Given the description of an element on the screen output the (x, y) to click on. 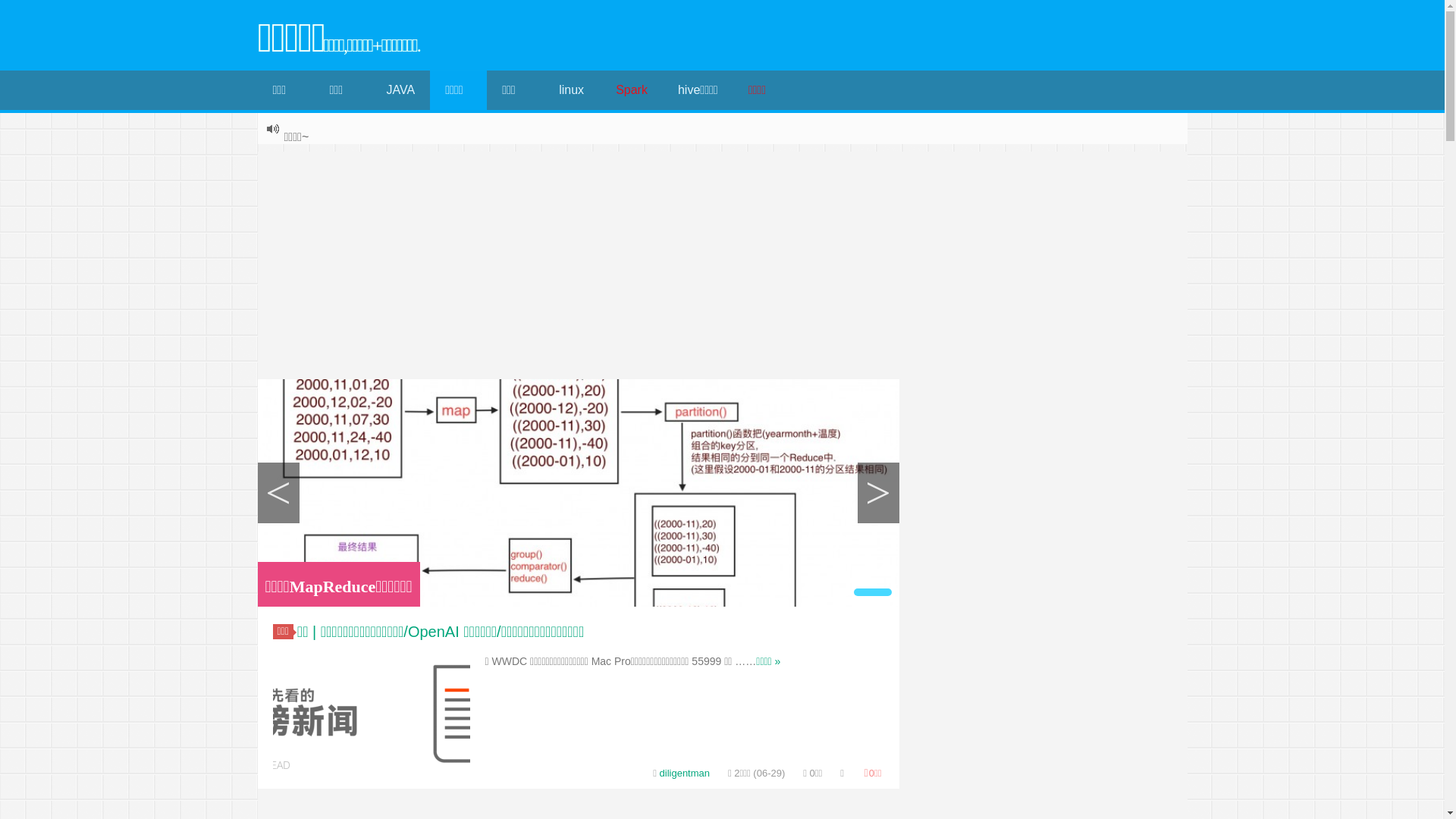
Advertisement Element type: hover (721, 265)
Next Element type: text (877, 492)
Previous Element type: text (278, 492)
2 Element type: text (872, 592)
Spark Element type: text (631, 89)
1 Element type: text (841, 592)
diligentman Element type: text (684, 772)
JAVA Element type: text (400, 89)
linux Element type: text (571, 89)
